Given the description of an element on the screen output the (x, y) to click on. 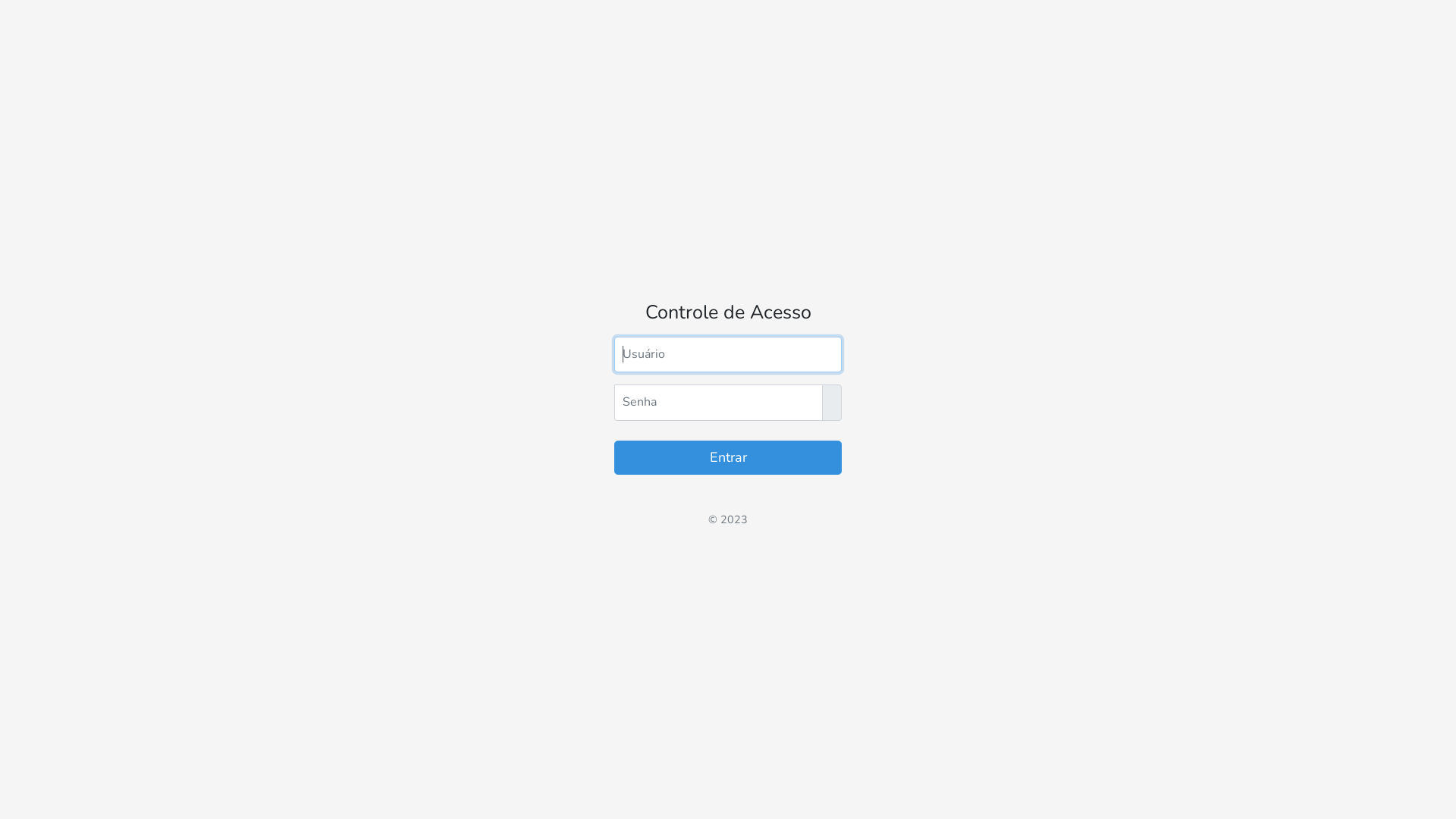
Entrar Element type: text (727, 457)
